Given the description of an element on the screen output the (x, y) to click on. 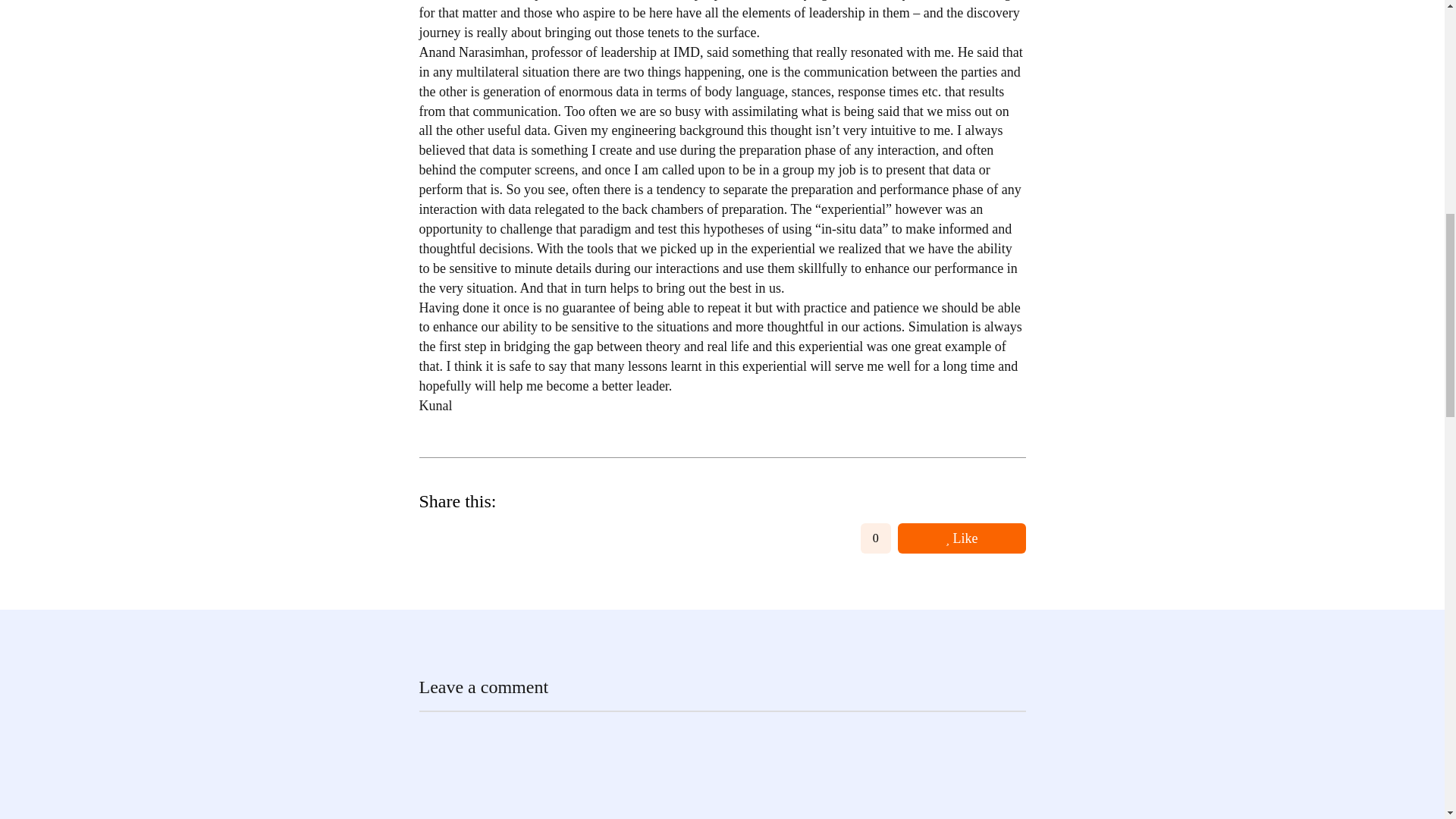
Click to share on Twitter (516, 538)
Comment Form (722, 764)
Click to share on LinkedIn (475, 538)
Click to share on Facebook (432, 538)
